Given the description of an element on the screen output the (x, y) to click on. 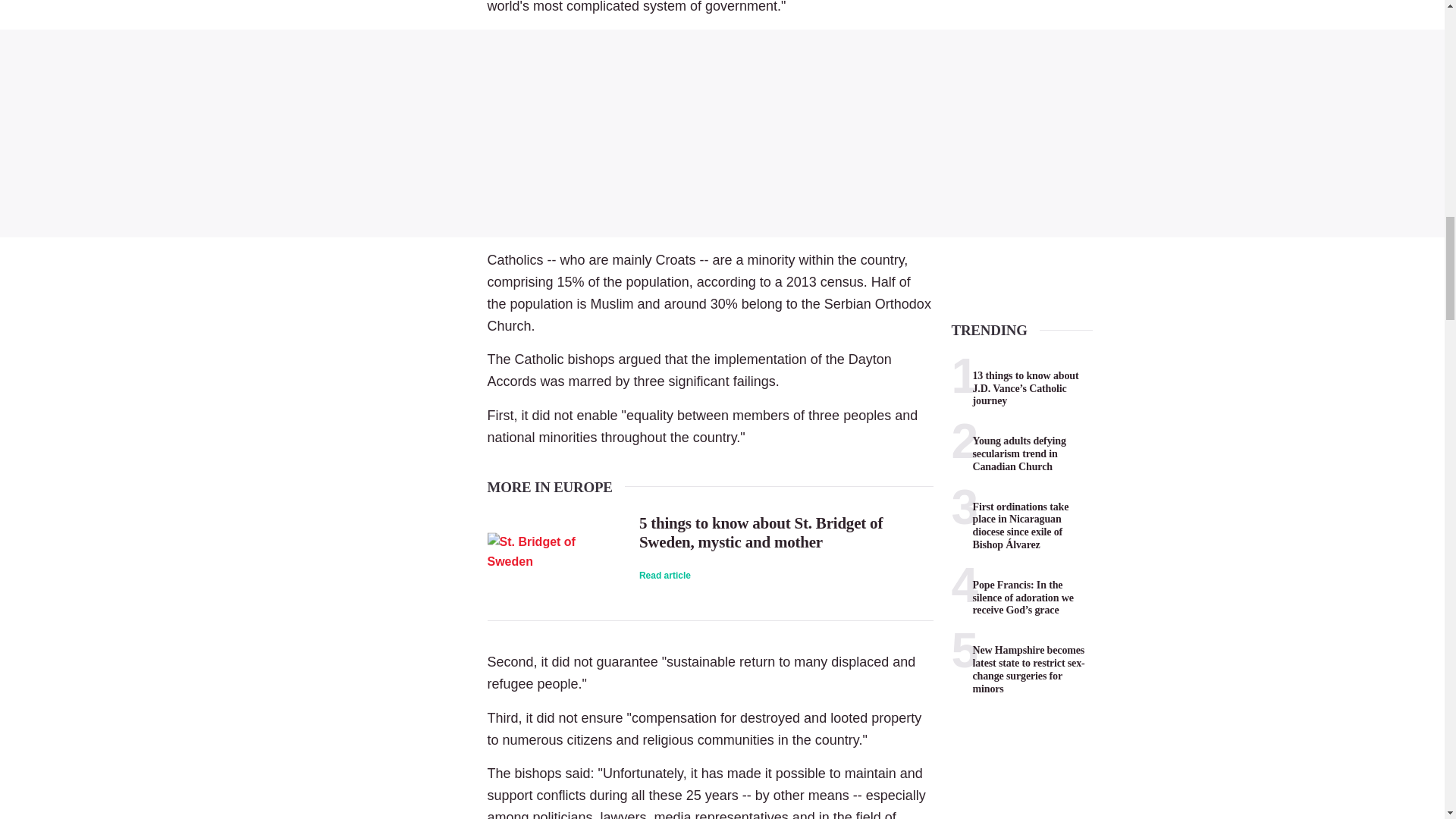
3rd party ad content (721, 133)
